Given the description of an element on the screen output the (x, y) to click on. 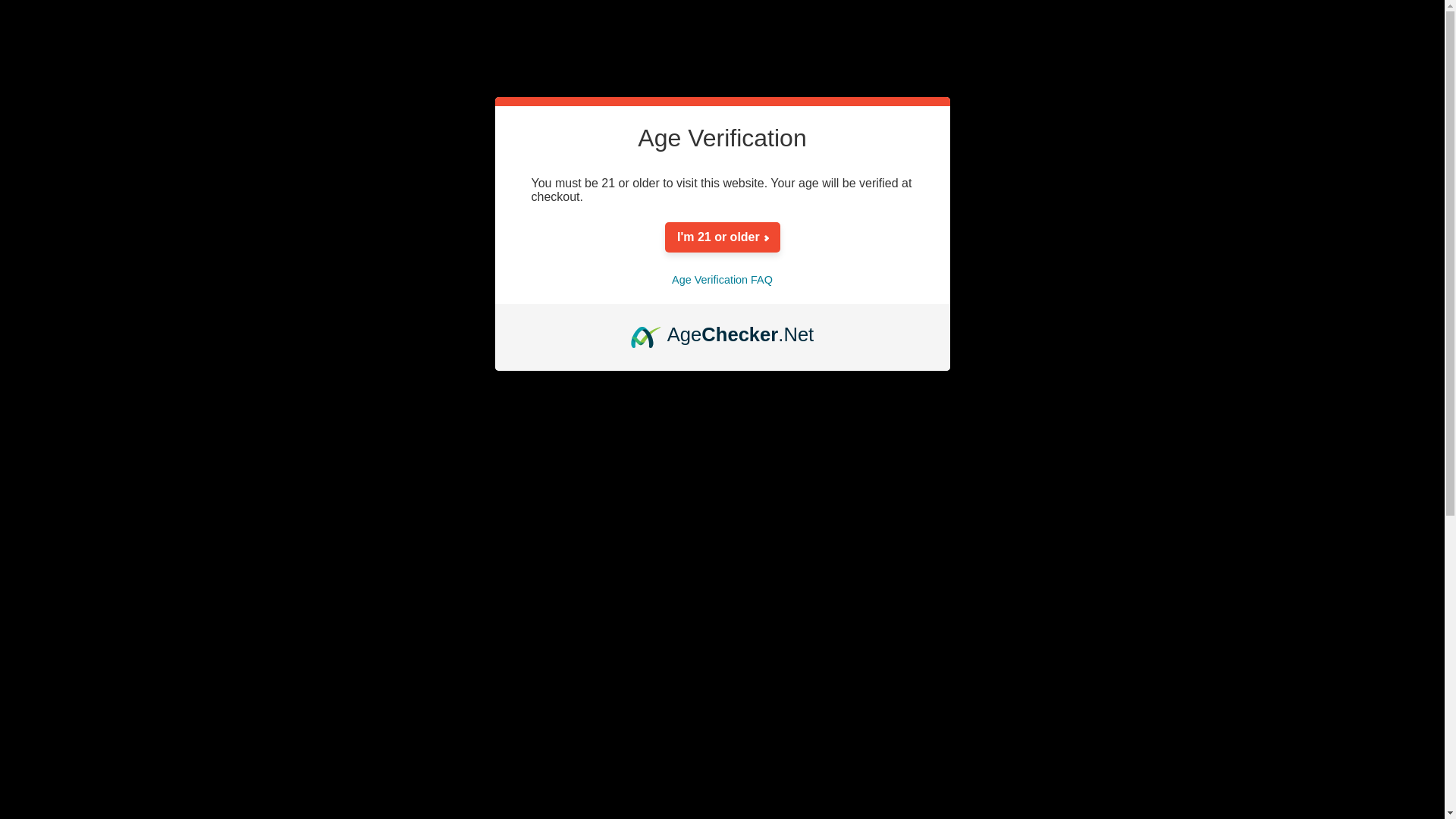
CLEARANCE (1152, 304)
SHOP (695, 304)
GUMMIES (766, 304)
JOIN US (1066, 304)
Search (192, 515)
payment-icon-1 (1092, 617)
0 (1277, 159)
Search (192, 515)
homepage (620, 431)
NEW ITEMS (1248, 304)
July 2021 -  Footer Form (854, 770)
BACK30 (903, 196)
GIFT GUIDE (983, 304)
TYPES OF CANNA (872, 304)
Search (192, 515)
